Given the description of an element on the screen output the (x, y) to click on. 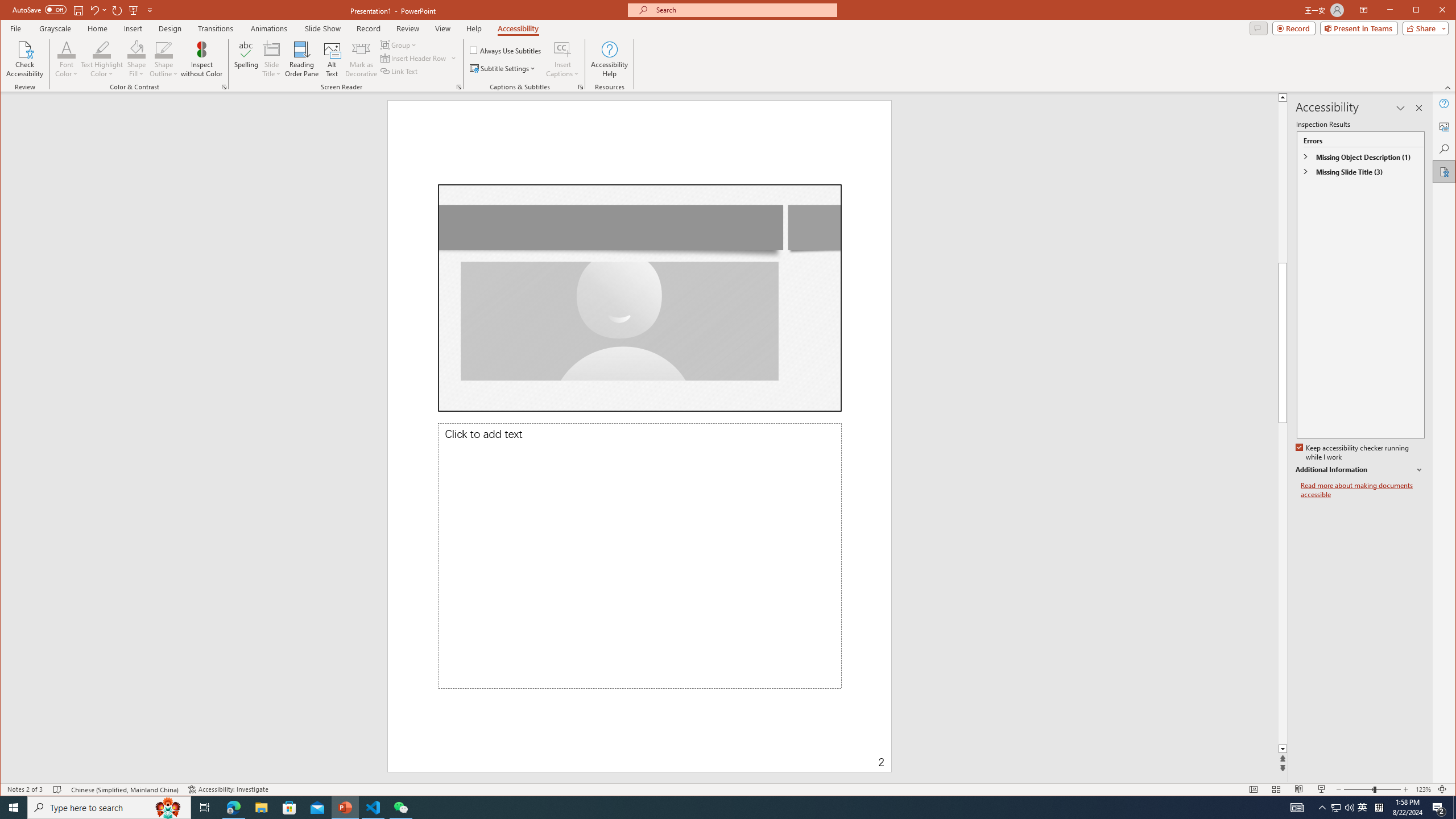
Keep accessibility checker running while I work (1352, 452)
Tray Input Indicator - Chinese (Simplified, China) (1378, 807)
Text Highlight Color (102, 59)
Search (1444, 148)
Insert Captions (562, 59)
Shape Outline (163, 59)
Type here to search (108, 807)
Inspect without Color (201, 59)
Insert Header Row (418, 57)
Page Number (781, 754)
